Given the description of an element on the screen output the (x, y) to click on. 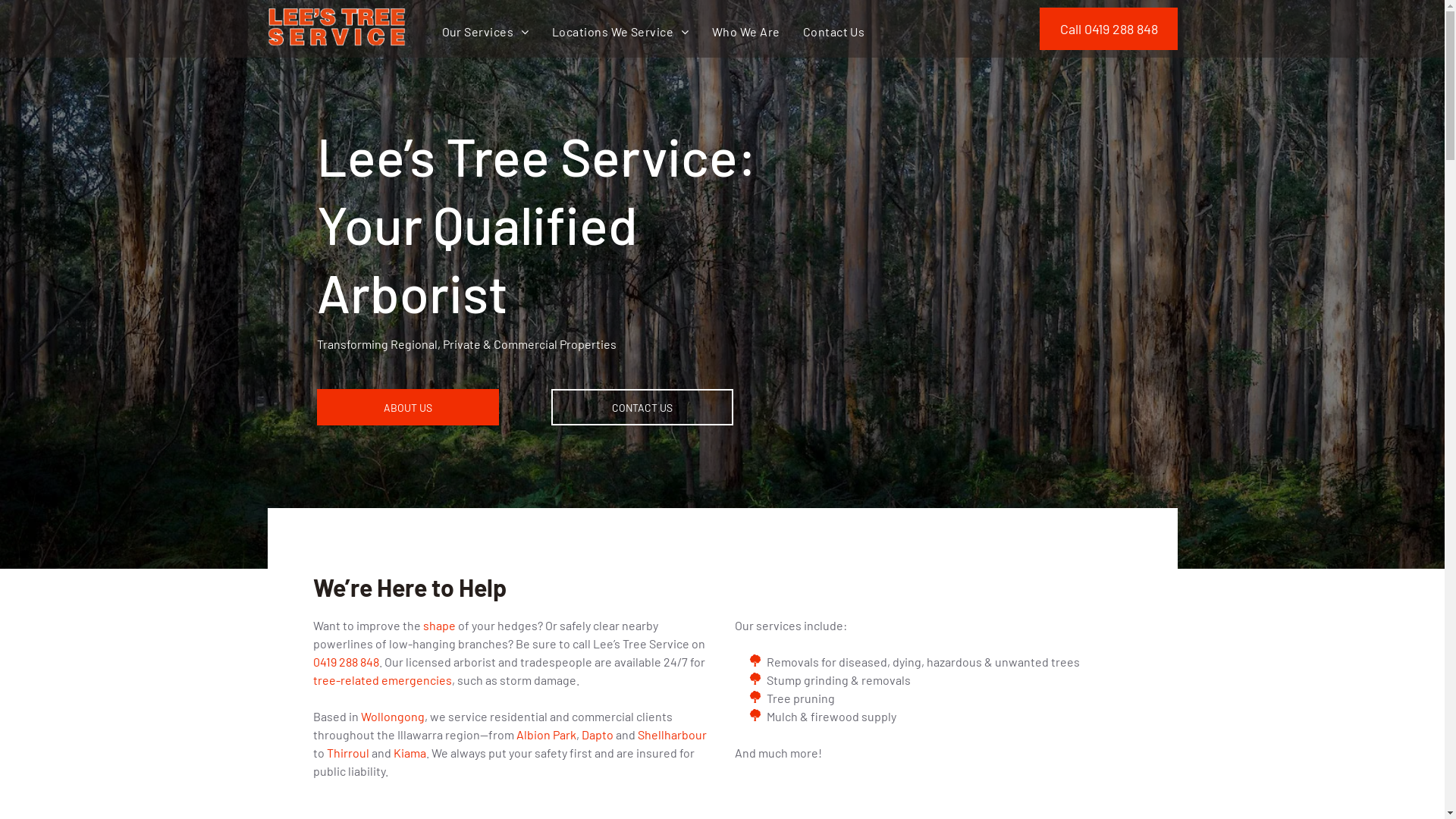
Kiama Element type: text (408, 752)
Albion Park Element type: text (545, 734)
Our Services Element type: text (485, 31)
CONTACT US Element type: text (641, 407)
ABOUT US Element type: text (407, 407)
tree-related emergencies Element type: text (381, 679)
Dapto Element type: text (596, 734)
Who We Are Element type: text (745, 31)
Call 0419 288 848 Element type: text (1107, 28)
Locations We Service Element type: text (620, 31)
Wollongong Element type: text (392, 716)
Shellharbour Element type: text (671, 734)
Thirroul Element type: text (347, 752)
0419 288 848 Element type: text (345, 661)
Contact Us Element type: text (833, 31)
shape Element type: text (439, 625)
